Given the description of an element on the screen output the (x, y) to click on. 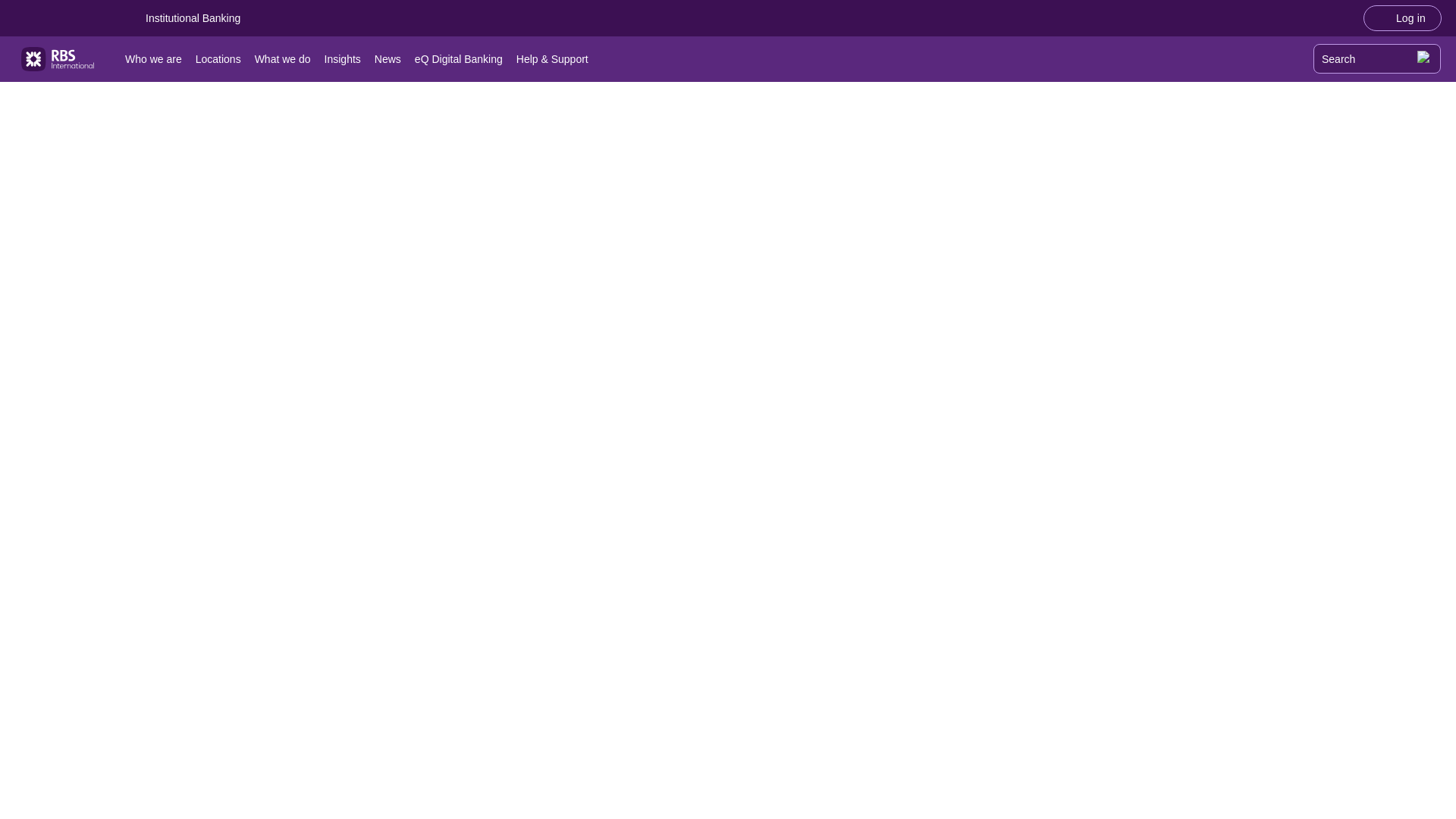
Institutional Banking (192, 18)
RBS International (57, 58)
Log in (1402, 17)
